Given the description of an element on the screen output the (x, y) to click on. 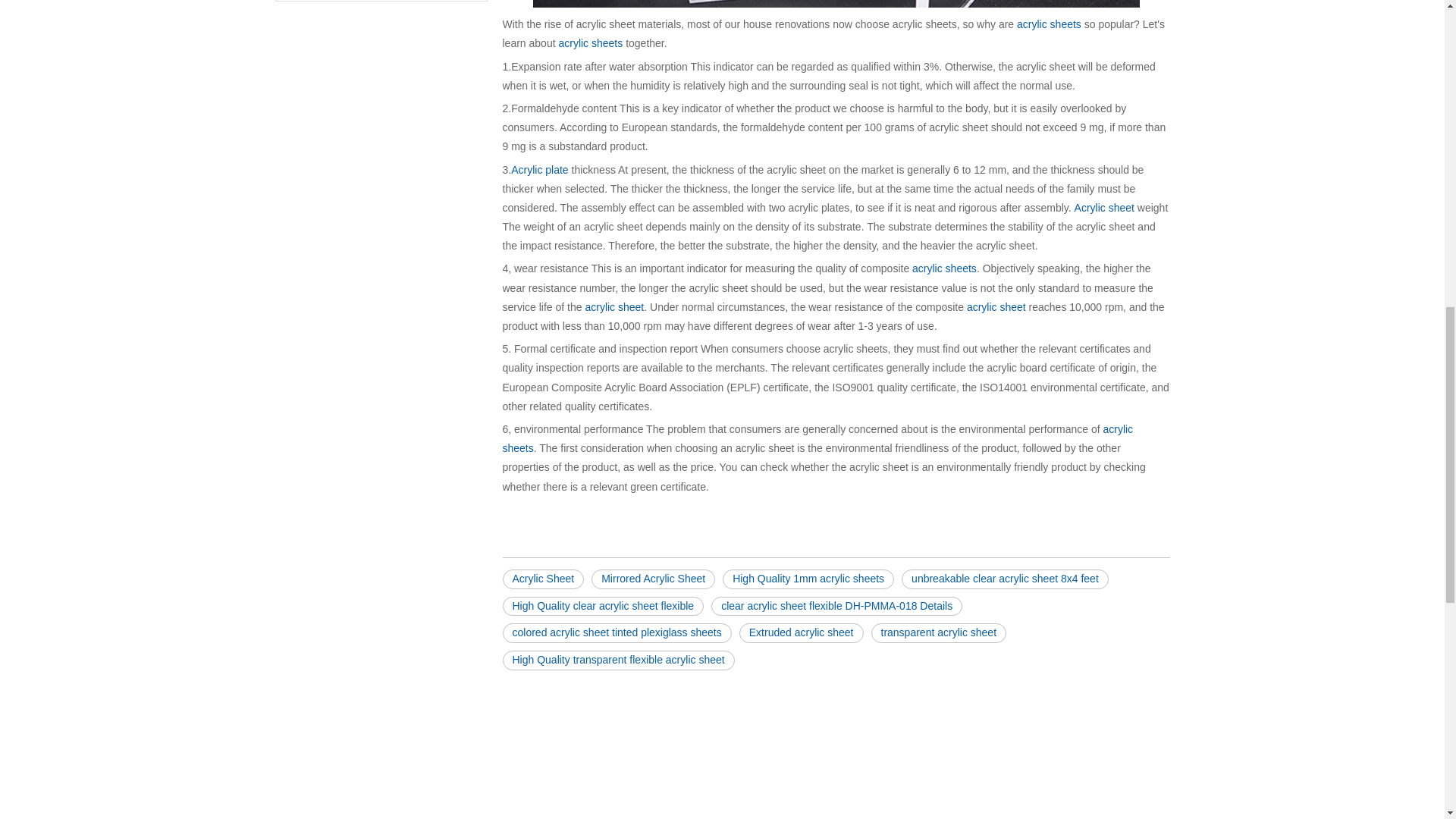
Acrylic Sheet (542, 578)
transparent acrylic sheet (938, 632)
unbreakable clear acrylic sheet 8x4 feet (1004, 578)
colored acrylic sheet tinted plexiglass sheets (616, 632)
clear acrylic sheet flexible DH-PMMA-018 Details (836, 606)
Extruded acrylic sheet (801, 632)
High Quality 1mm acrylic sheets (807, 578)
Mirrored Acrylic Sheet (652, 578)
High Quality clear acrylic sheet flexible (602, 606)
High Quality transparent flexible acrylic sheet (617, 660)
